Given the description of an element on the screen output the (x, y) to click on. 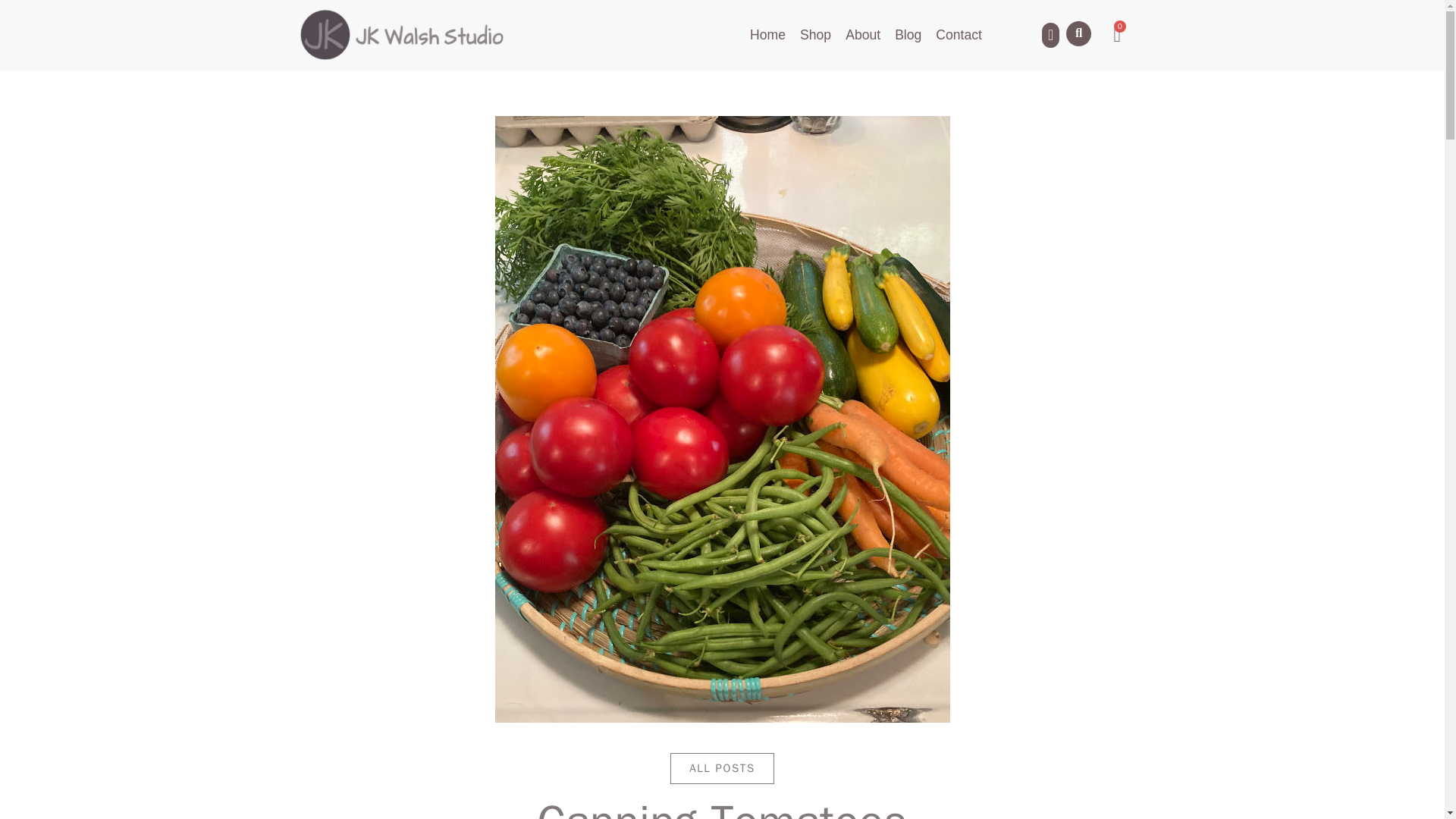
Shop (814, 34)
Home (767, 34)
0 (1117, 35)
About (863, 34)
Blog (908, 34)
Contact (959, 34)
